Given the description of an element on the screen output the (x, y) to click on. 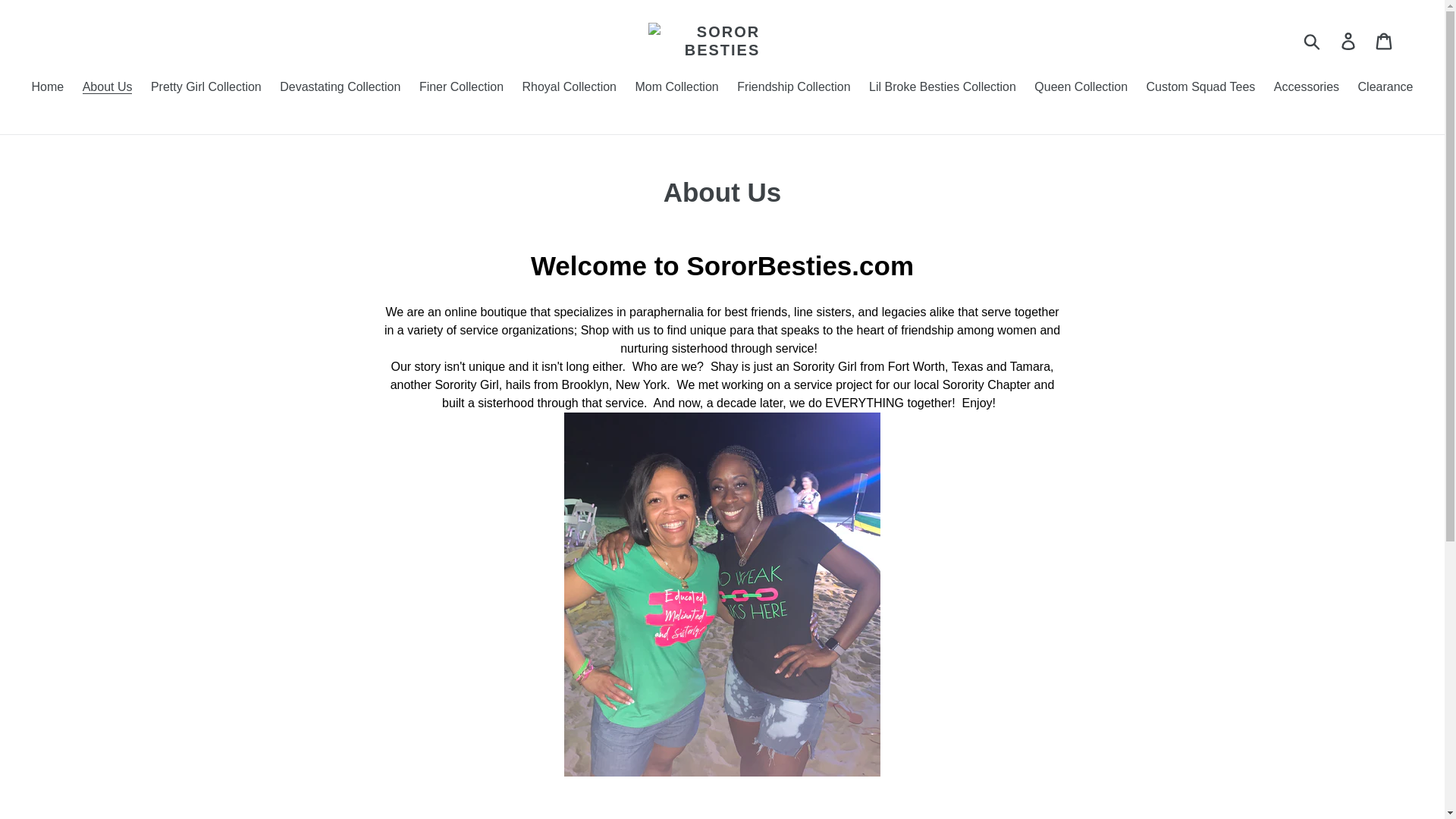
Queen Collection (1080, 87)
Friendship Collection (793, 87)
Rhoyal Collection (568, 87)
Accessories (1306, 87)
Custom Squad Tees (1200, 87)
Cart (1385, 40)
Home (47, 87)
Clearance (1386, 87)
About Us (107, 87)
Devastating Collection (339, 87)
Submit (1313, 40)
Pretty Girl Collection (205, 87)
Mom Collection (676, 87)
Log in (1349, 40)
Finer Collection (461, 87)
